Given the description of an element on the screen output the (x, y) to click on. 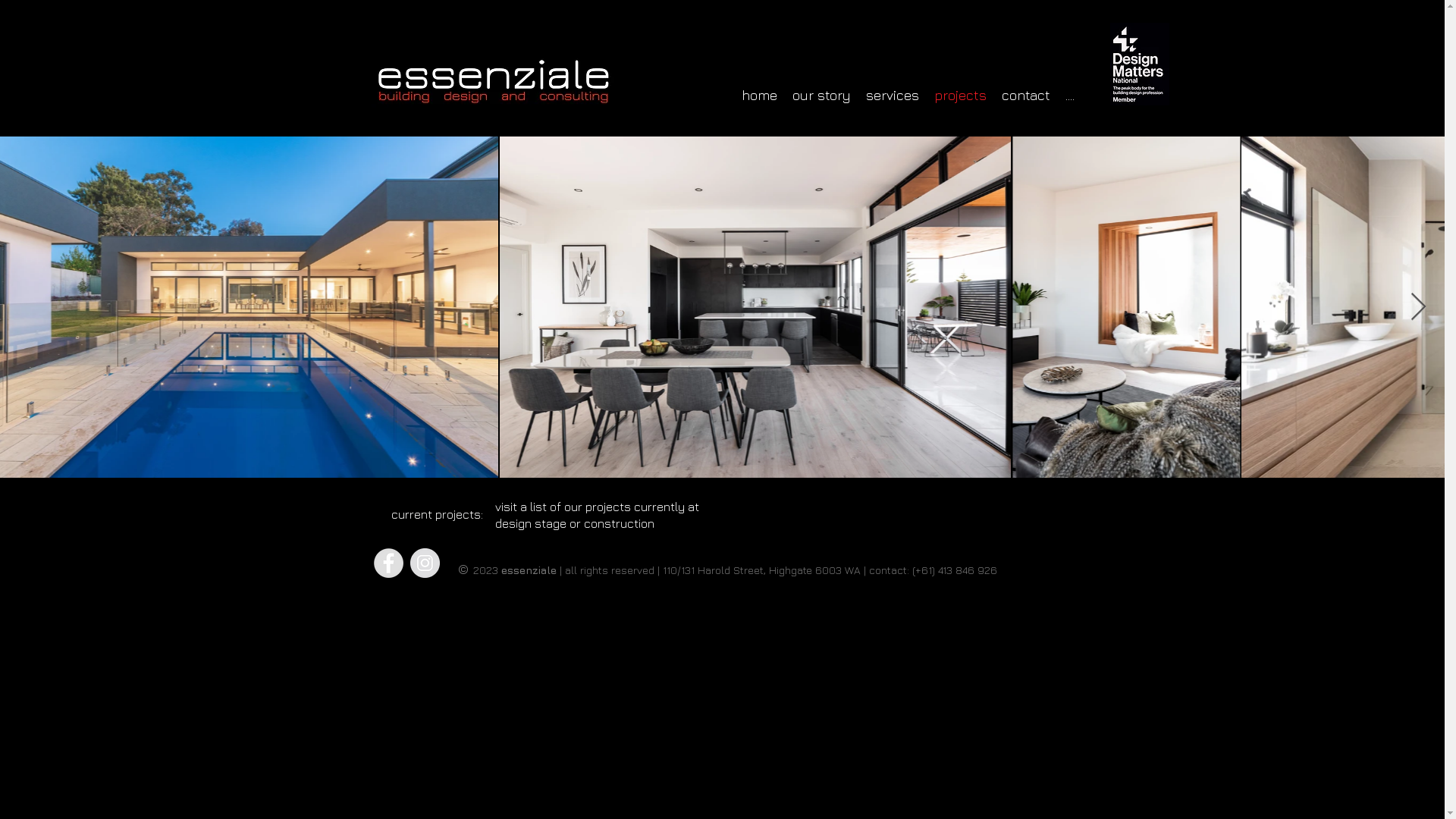
services Element type: text (892, 95)
our story Element type: text (820, 95)
current projects: Element type: text (437, 513)
contact Element type: text (1025, 95)
home Element type: text (759, 95)
essenziale architecture design consulting perth Element type: hover (493, 81)
essenziale - building design and drafting perth Element type: hover (1139, 63)
projects Element type: text (960, 95)
